Given the description of an element on the screen output the (x, y) to click on. 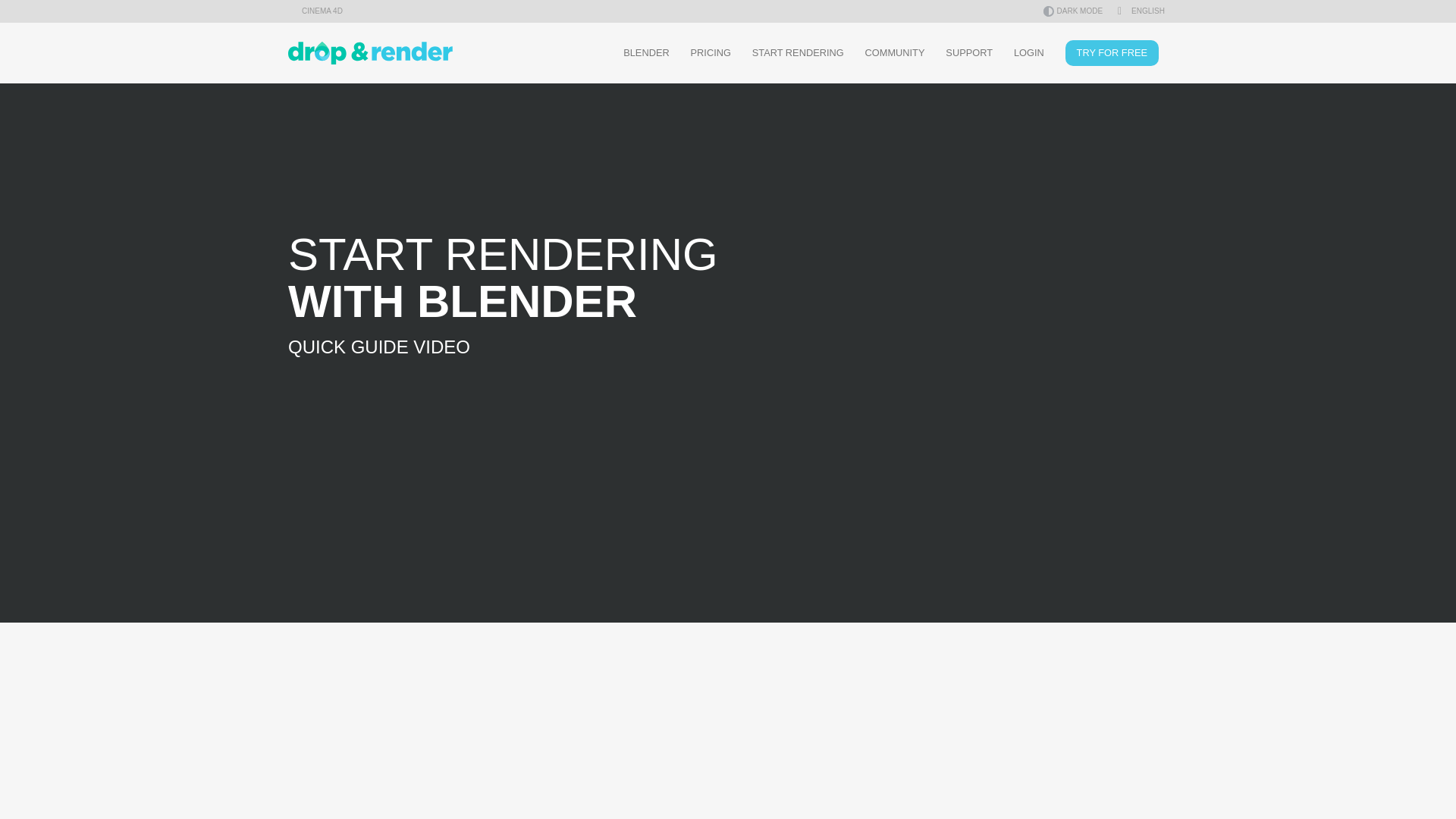
English (1141, 11)
COMMUNITY (894, 52)
START RENDERING (798, 52)
DARK MODE (1073, 9)
Cinema 4D (315, 9)
TRY FOR FREE (1111, 53)
CINEMA 4D (315, 9)
